Given the description of an element on the screen output the (x, y) to click on. 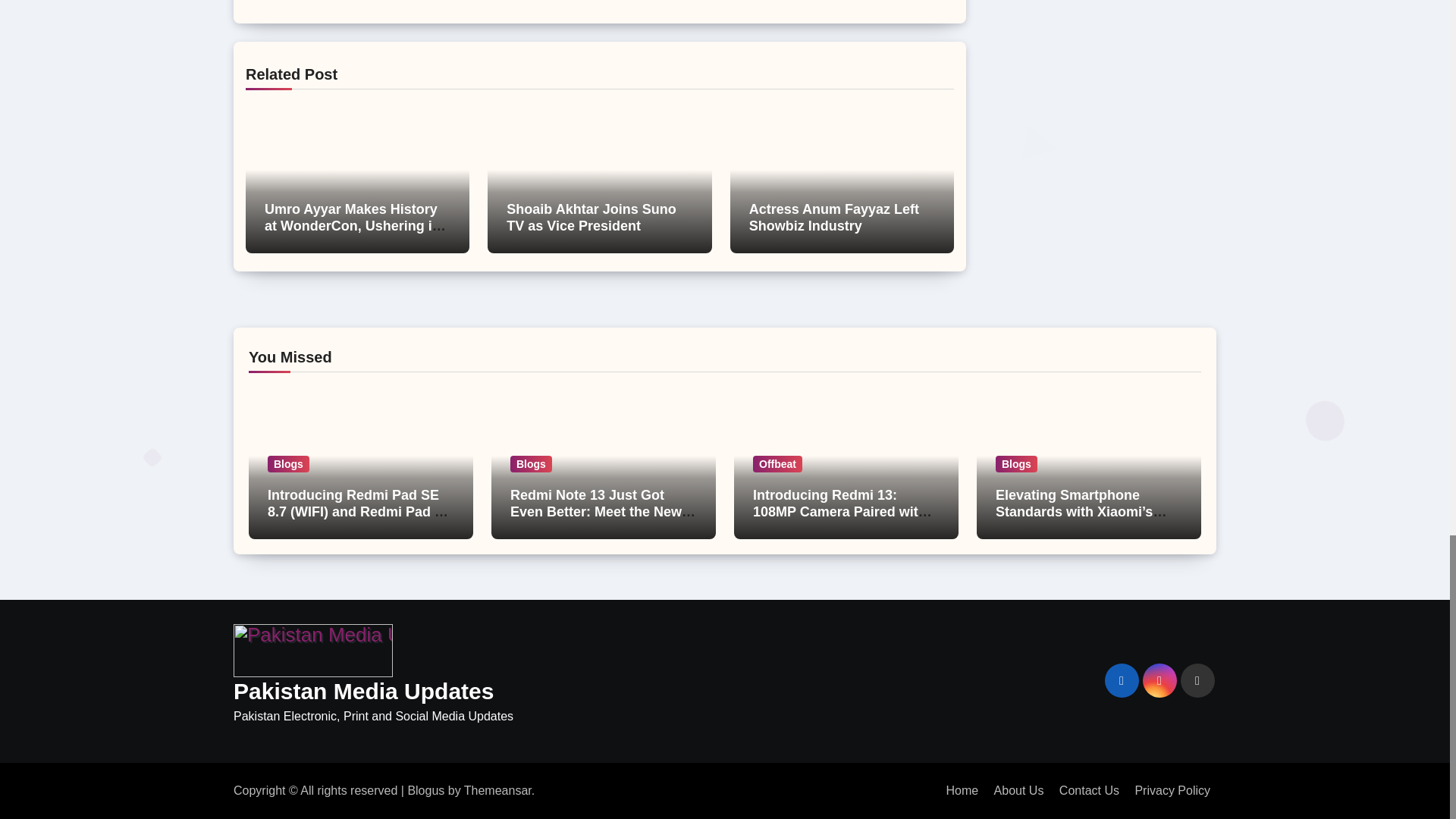
Home (961, 790)
Shoaib Akhtar Joins Suno TV as Vice President (590, 217)
Permalink to: Shoaib Akhtar Joins Suno TV as Vice President (590, 217)
Actress Anum Fayyaz Left Showbiz Industry (833, 217)
Permalink to: Actress Anum Fayyaz Left Showbiz Industry (833, 217)
